Given the description of an element on the screen output the (x, y) to click on. 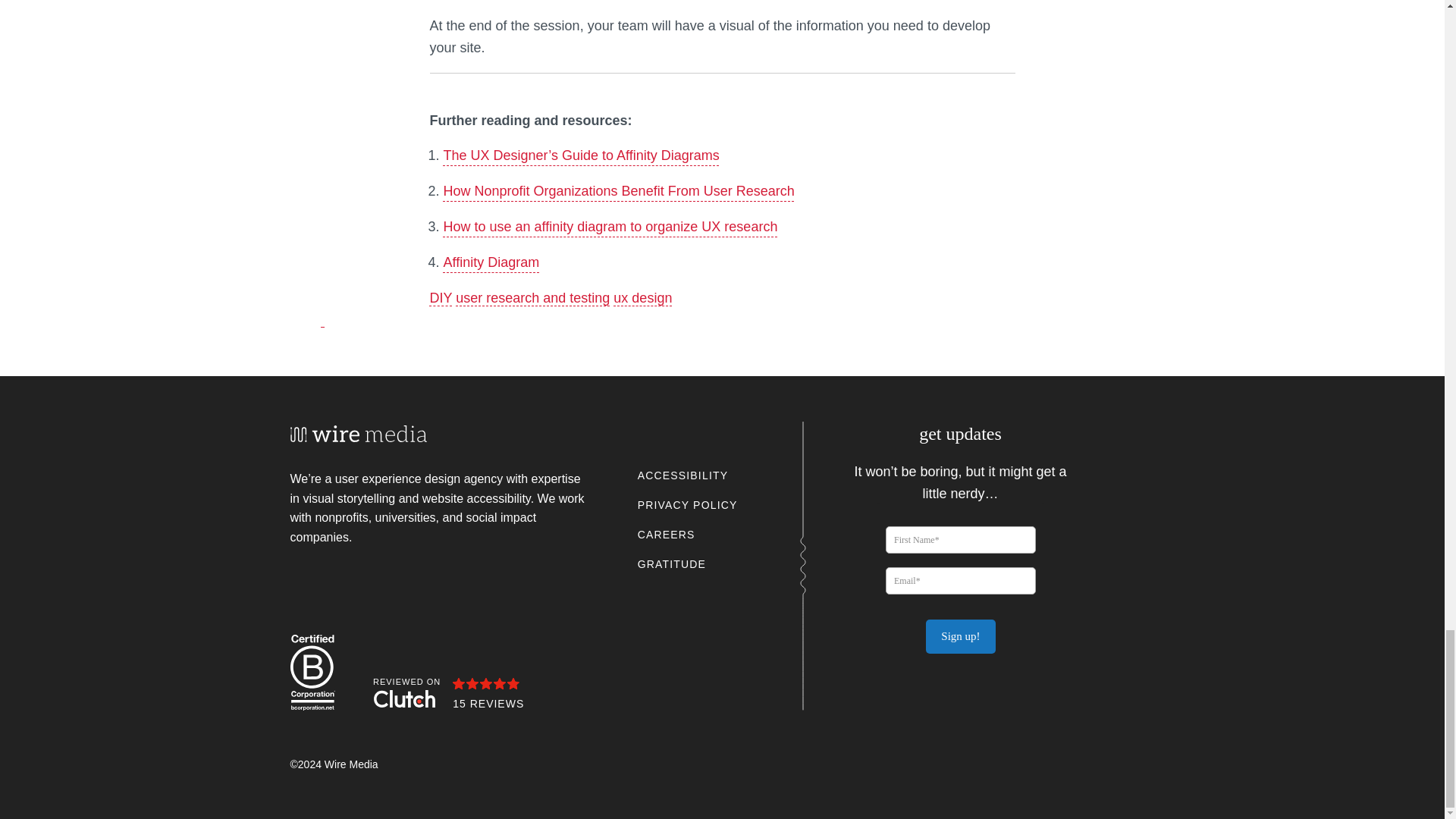
Facebook (921, 698)
How to use an affinity diagram to organize UX research (609, 226)
Twitter (998, 698)
ux design (641, 297)
Email Newsletter Opt-In Form - for WM SITE ONLY (959, 563)
How Nonprofit Organizations Benefit From User Research (617, 191)
CAREERS (666, 534)
LinkedIn (960, 698)
user research and testing (532, 297)
Affinity Diagram (490, 262)
GRATITUDE (671, 563)
DIY (440, 297)
PRIVACY POLICY (687, 504)
ACCESSIBILITY (682, 475)
